Given the description of an element on the screen output the (x, y) to click on. 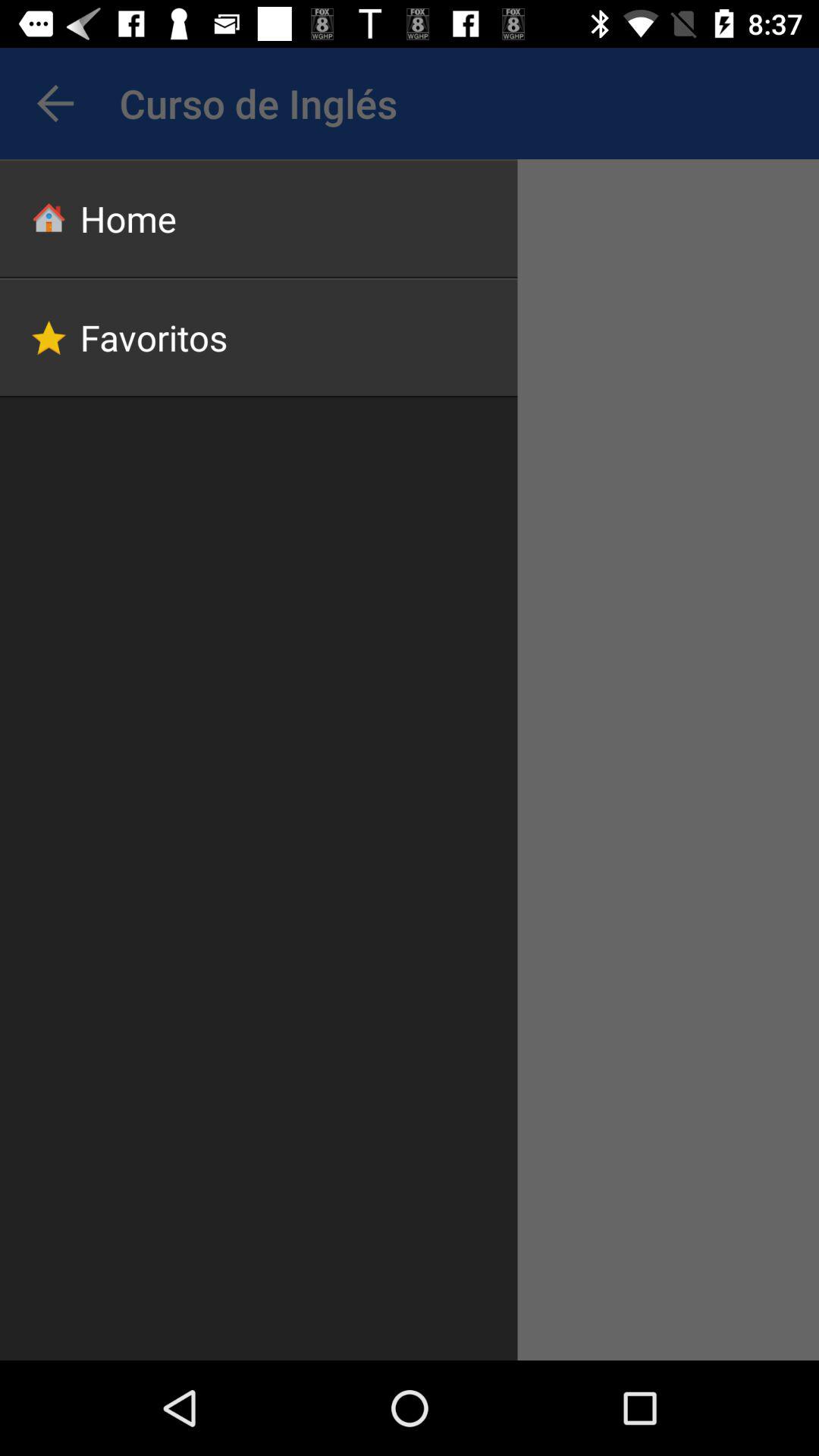
click home icon (258, 218)
